Given the description of an element on the screen output the (x, y) to click on. 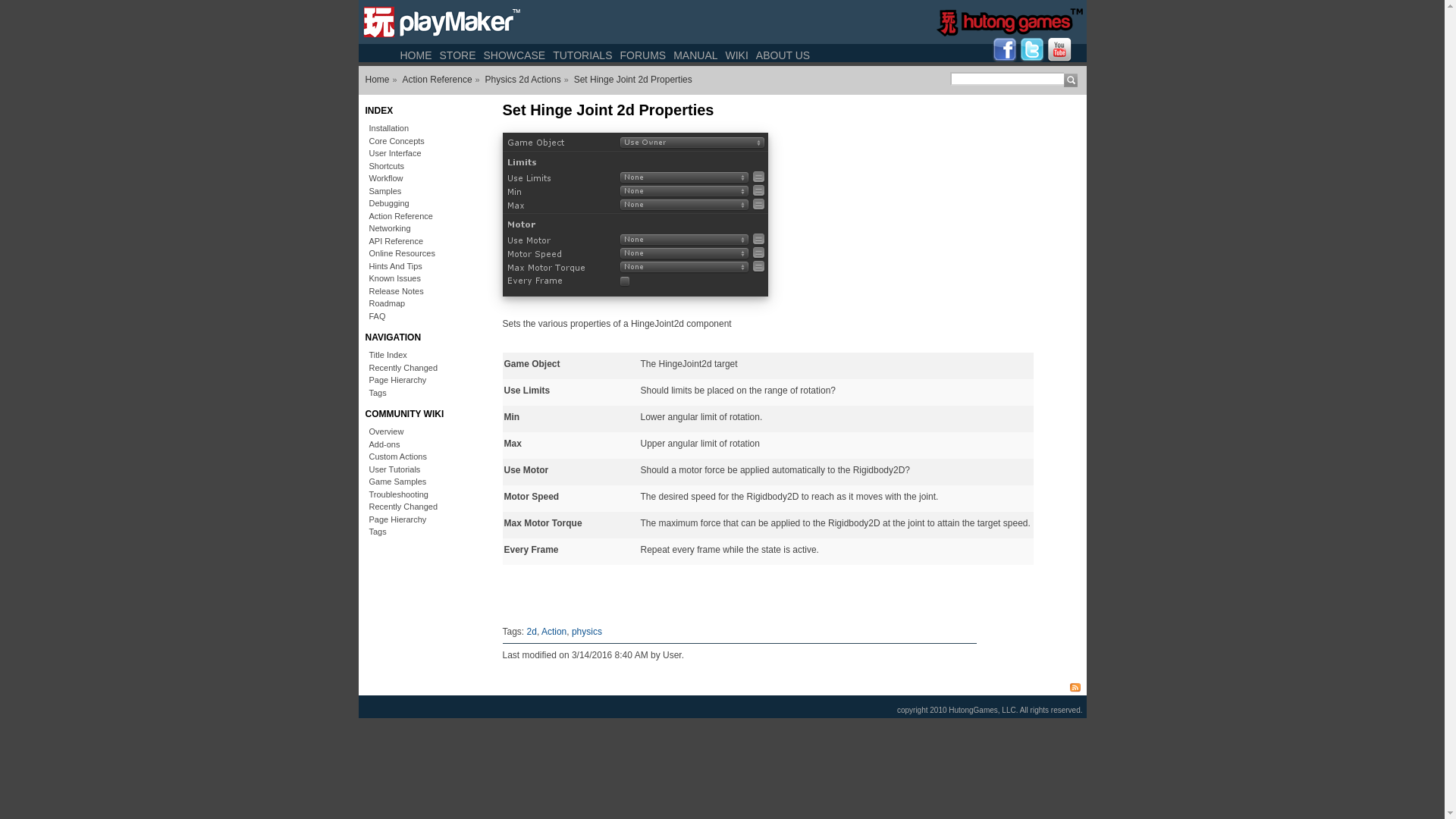
playMaker Wiki (375, 79)
Workflow (423, 178)
Samples (423, 191)
TUTORIALS (582, 55)
STORE (457, 55)
OK (1070, 79)
ABOUT US (782, 55)
Installation (423, 128)
Shortcuts (423, 164)
Networking (423, 228)
